Given the description of an element on the screen output the (x, y) to click on. 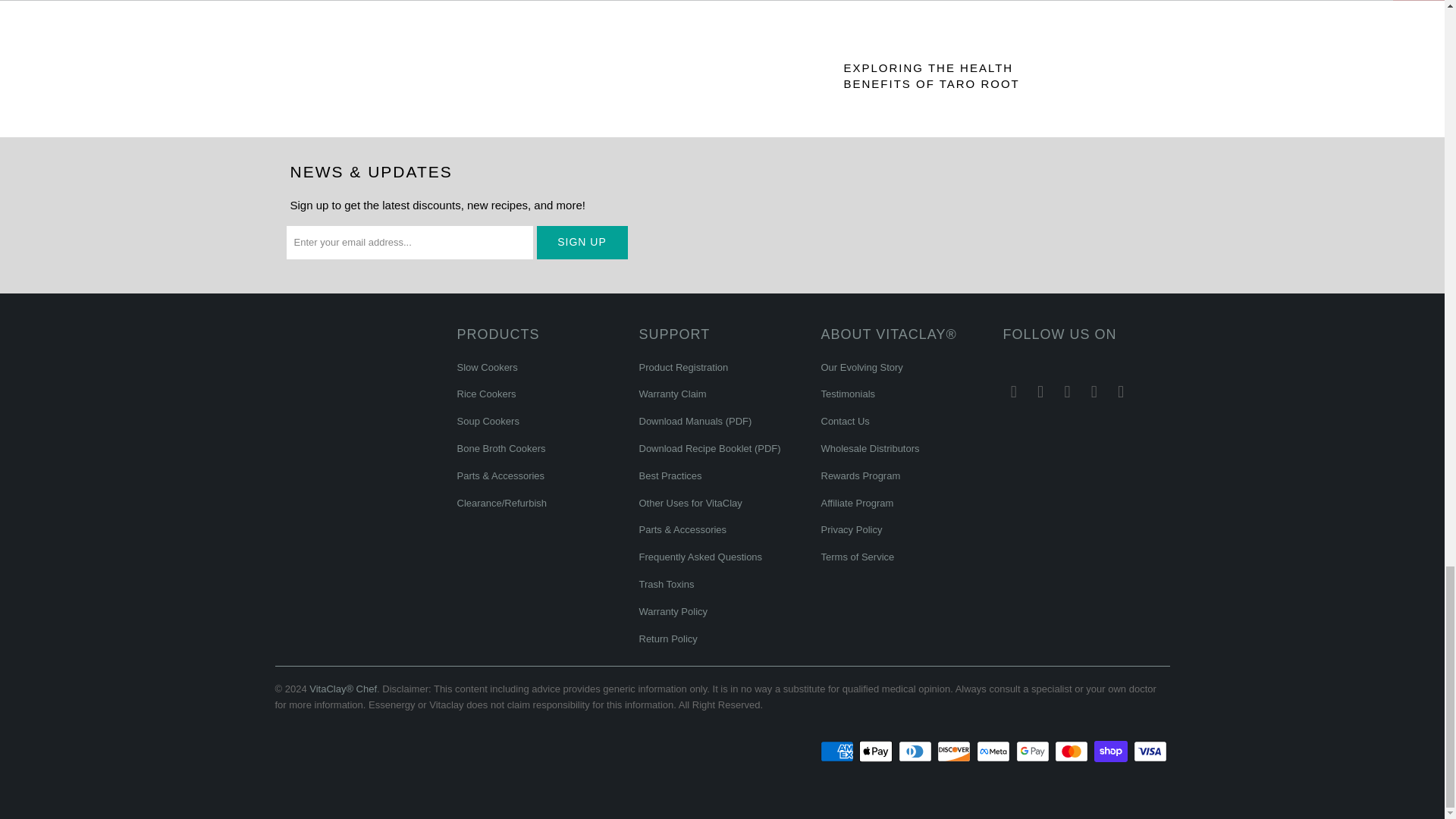
Google Pay (1034, 751)
Mastercard (1072, 751)
Diners Club (916, 751)
Discover (955, 751)
Sign Up (582, 242)
Shop Pay (1112, 751)
American Express (839, 751)
Meta Pay (994, 751)
Apple Pay (877, 751)
Visa (1150, 751)
